Given the description of an element on the screen output the (x, y) to click on. 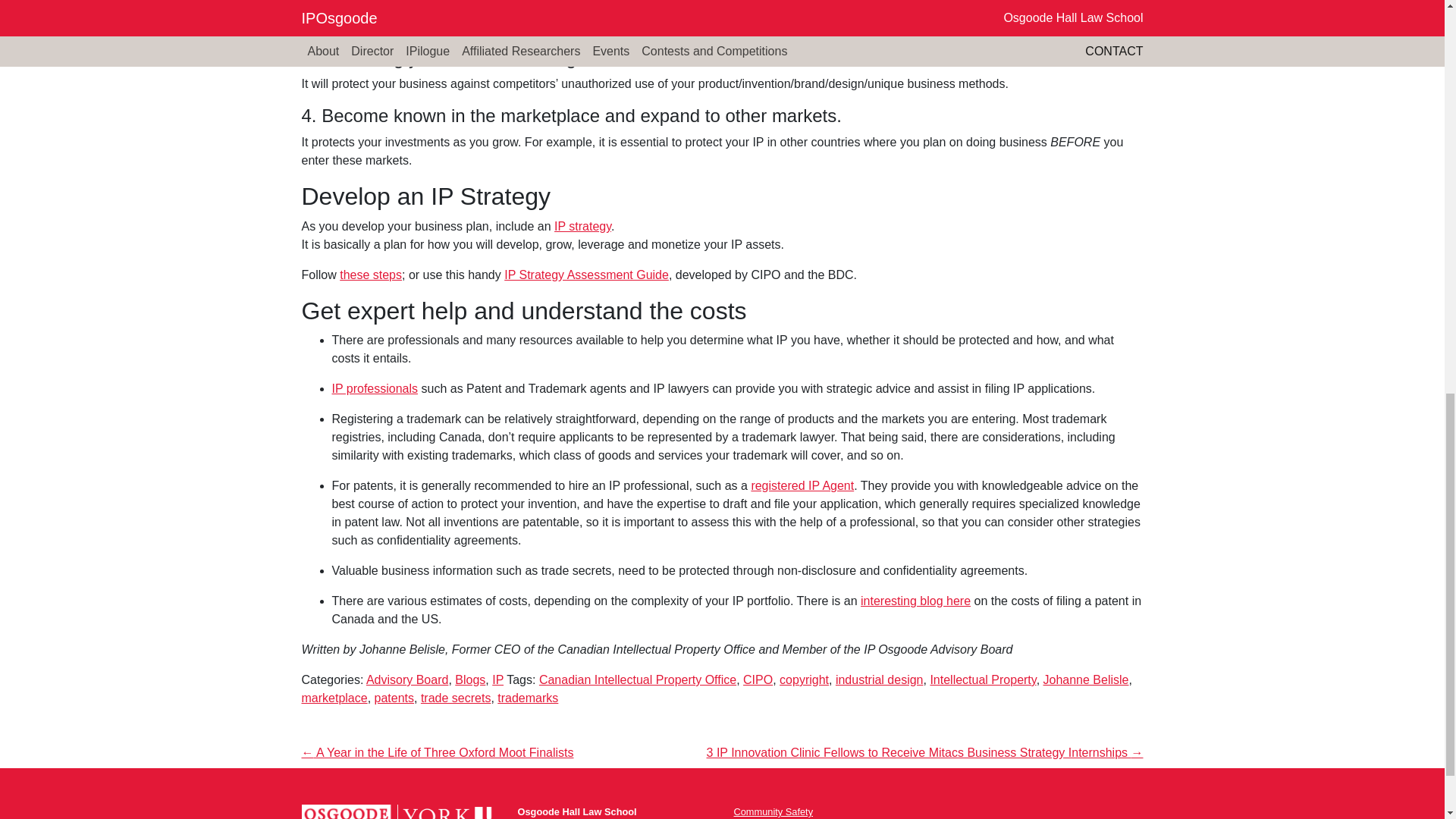
registered IP Agent (802, 485)
IP professionals (375, 388)
Canadian Intellectual Property Office (637, 679)
interesting blog here (915, 600)
trademarks (527, 697)
trade secrets (455, 697)
these steps (370, 274)
Johanne Belisle (1086, 679)
IP strategy (582, 226)
marketplace (334, 697)
Intellectual Property (982, 679)
patents (393, 697)
CIPO (757, 679)
industrial design (879, 679)
IP Strategy Assessment Guide (585, 274)
